Given the description of an element on the screen output the (x, y) to click on. 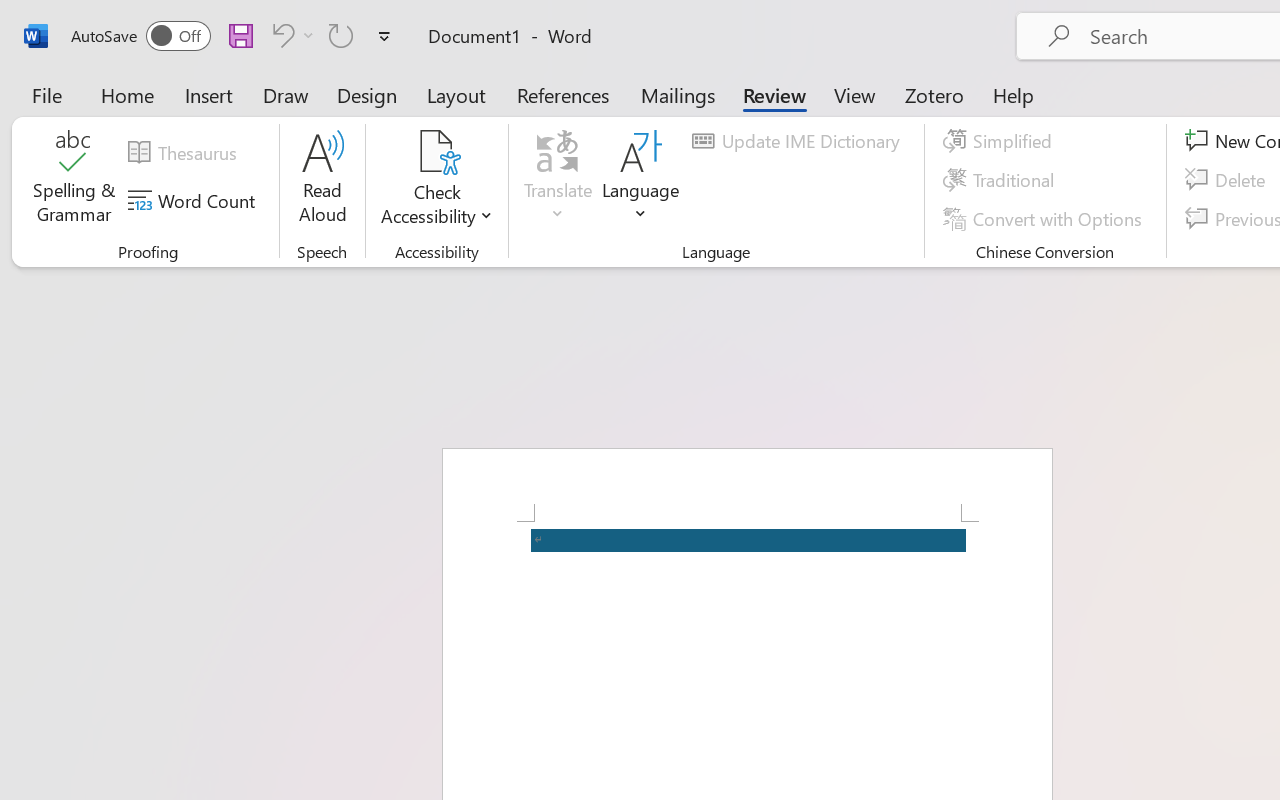
Read Aloud (322, 179)
Undo Apply Quick Style Set (280, 35)
Language (641, 179)
Traditional (1001, 179)
